Given the description of an element on the screen output the (x, y) to click on. 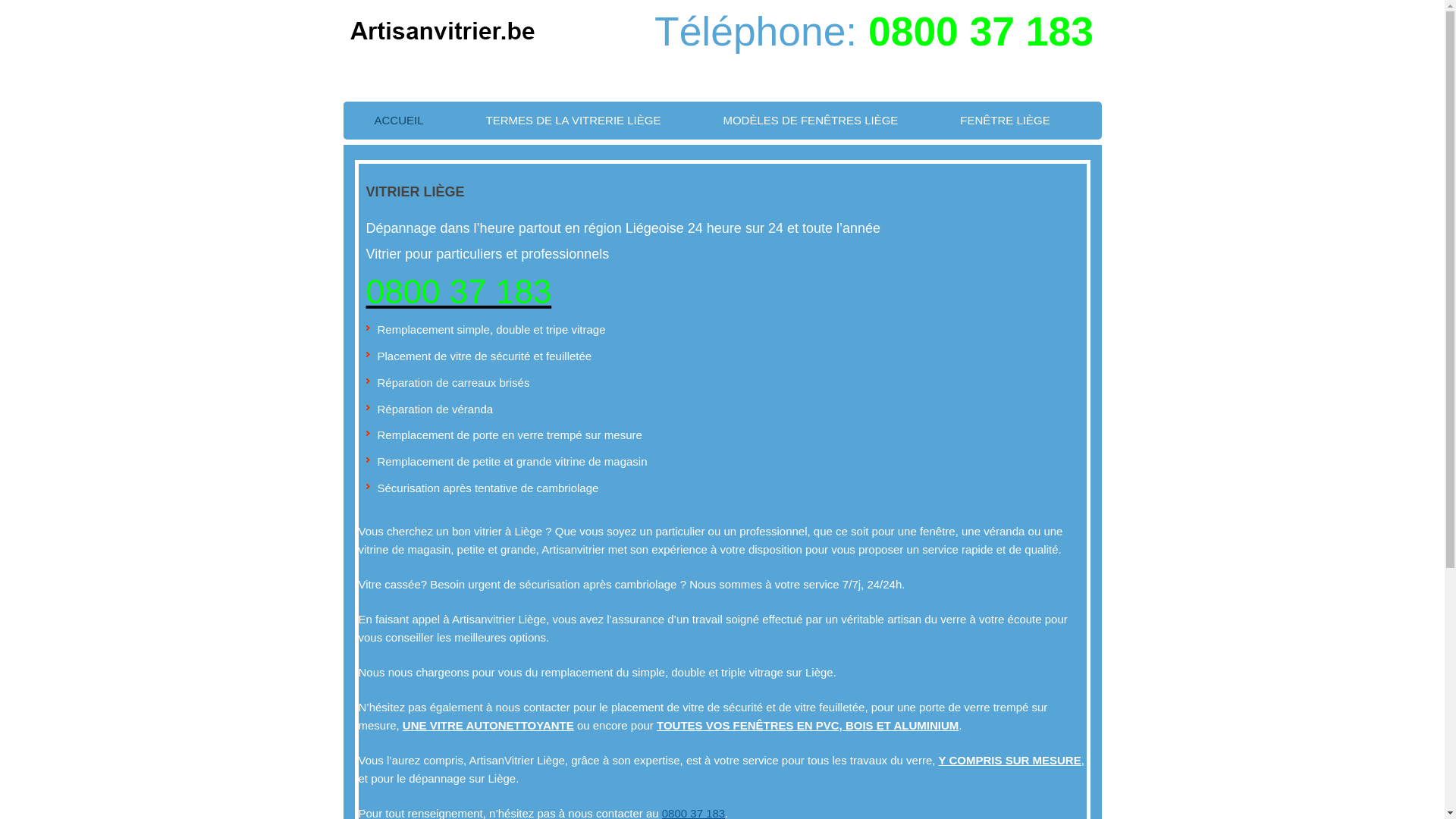
0800 37 183 Element type: text (458, 291)
ACCUEIL Element type: text (398, 120)
0800 37 183 Element type: text (980, 31)
